Given the description of an element on the screen output the (x, y) to click on. 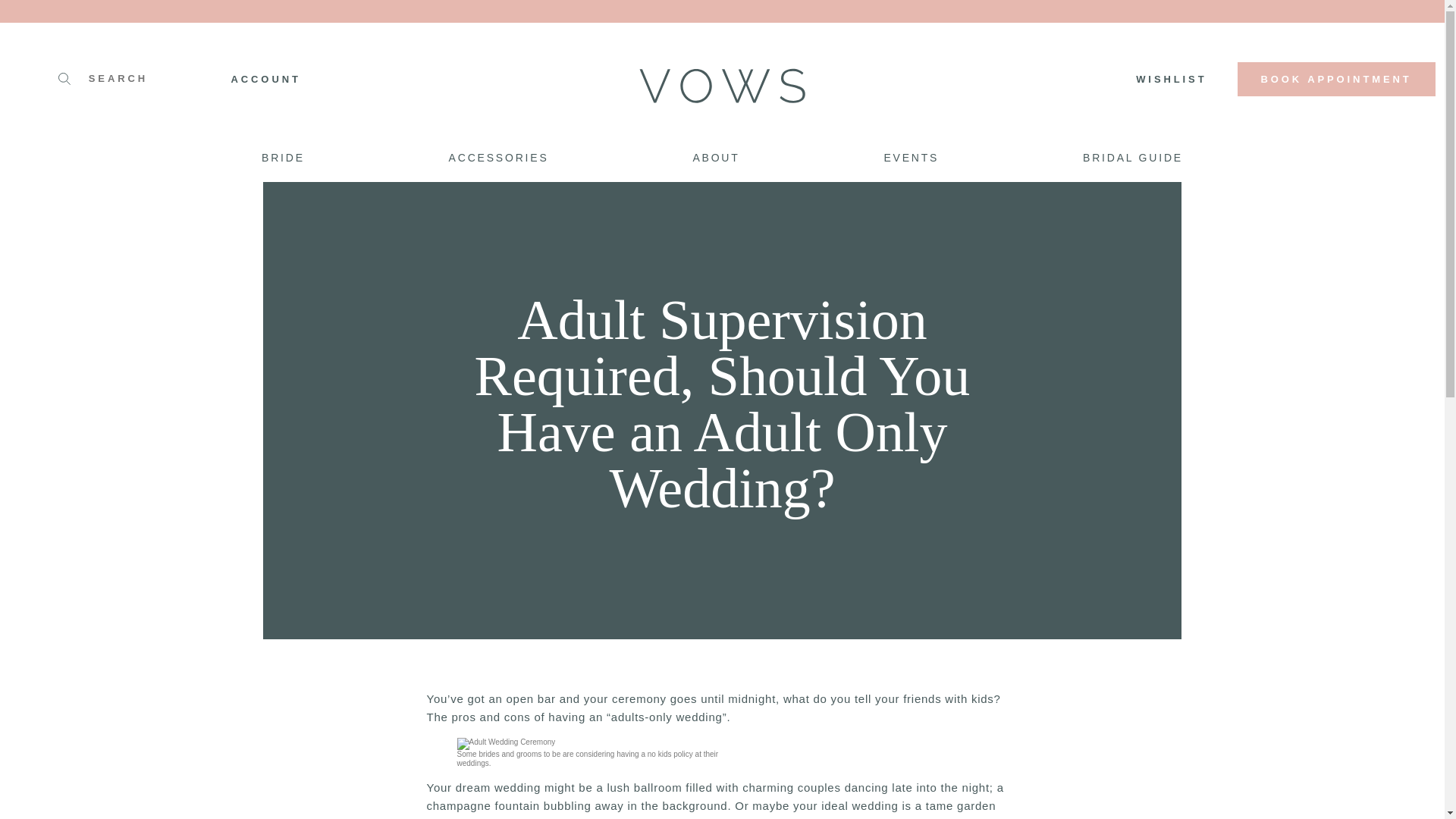
WISHLIST (1171, 79)
ABOUT (715, 158)
ACCESSORIES (498, 158)
BOOK APPOINTMENT (1336, 79)
ACCOUNT (264, 78)
BRIDE (291, 158)
